Given the description of an element on the screen output the (x, y) to click on. 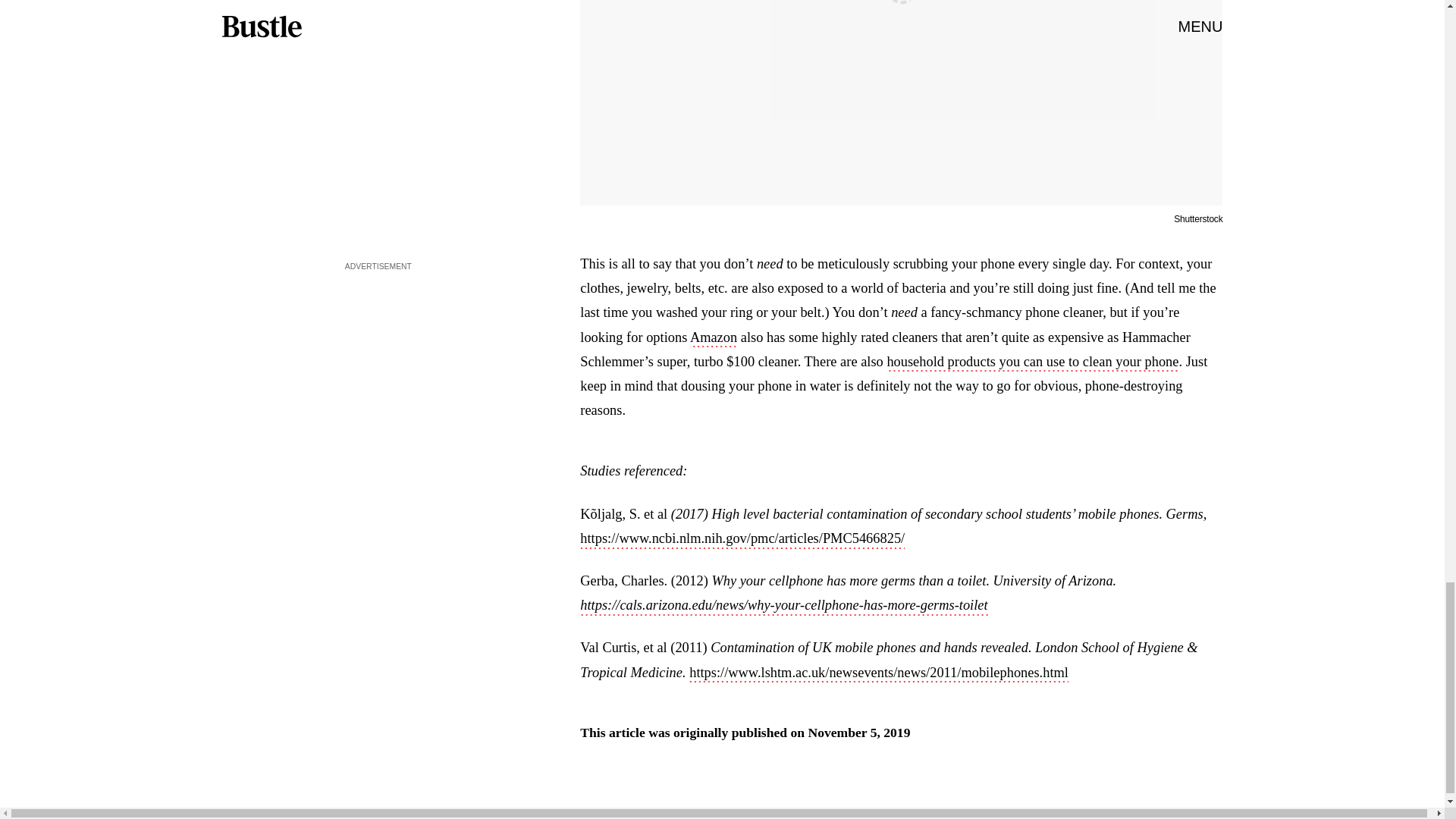
household products you can use to clean your phone (1031, 362)
Amazon (713, 339)
